Given the description of an element on the screen output the (x, y) to click on. 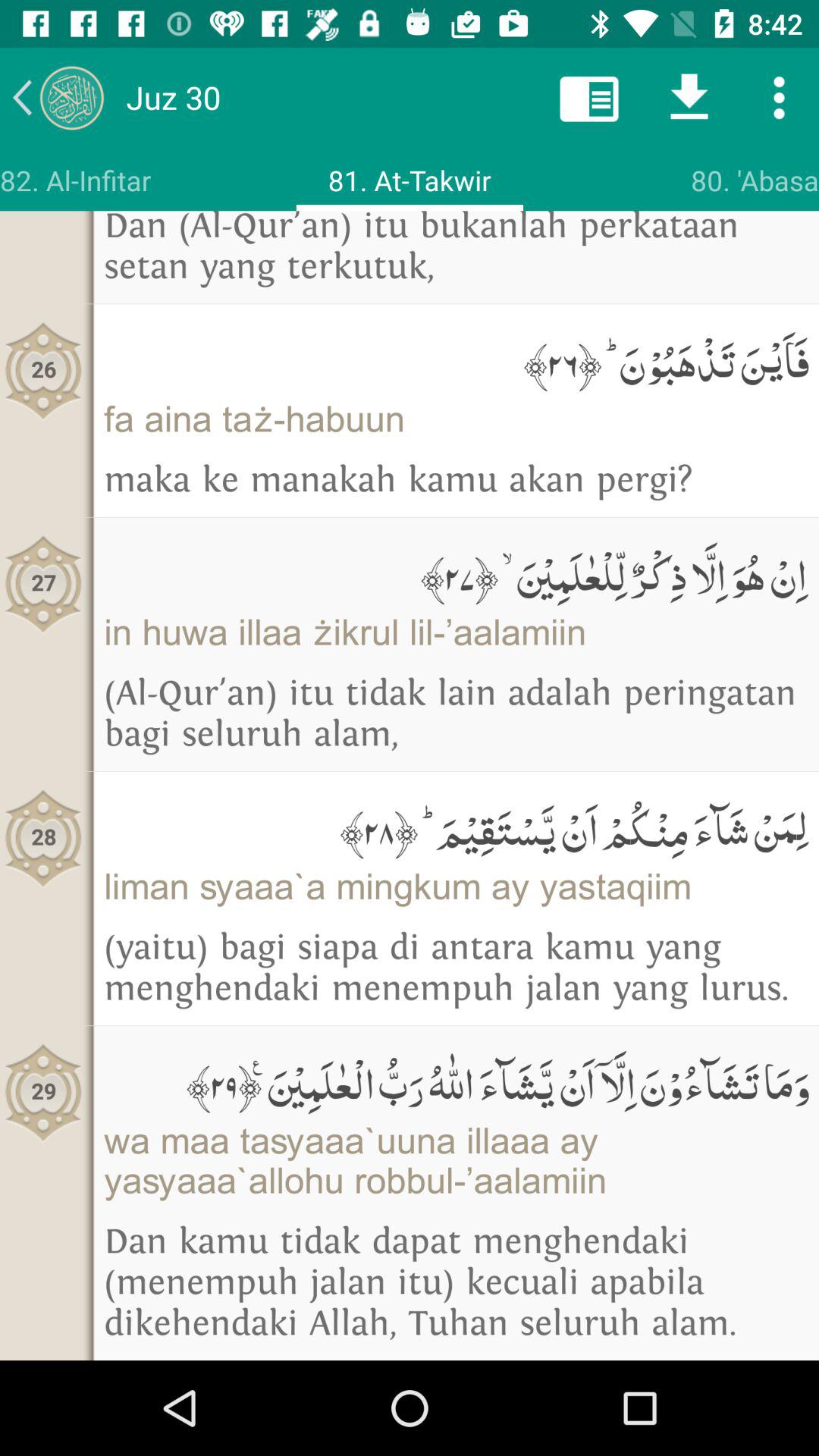
choose item to the right of the 26 icon (456, 419)
